Given the description of an element on the screen output the (x, y) to click on. 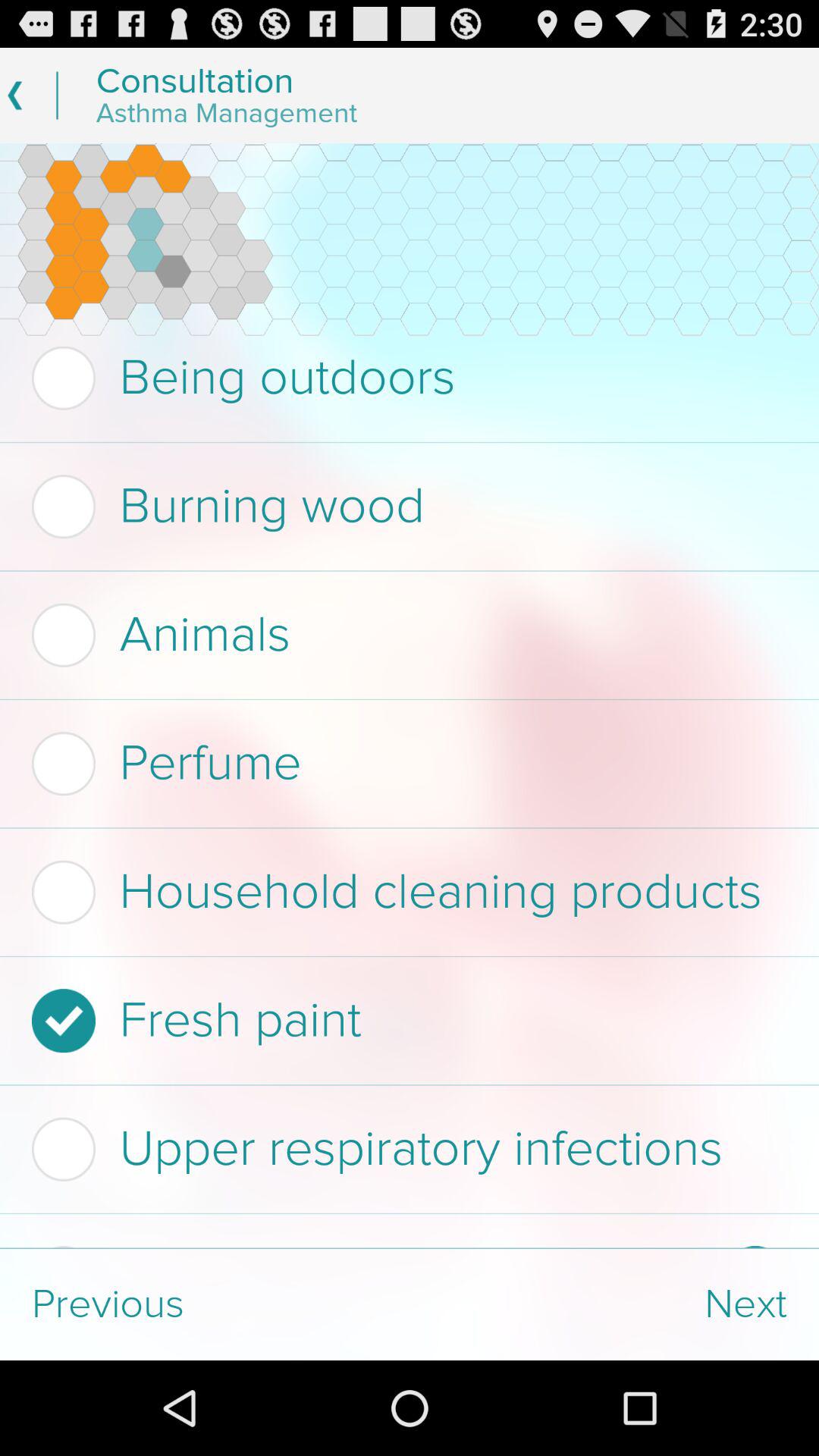
swipe to sulfites in food checkbox (373, 1246)
